Given the description of an element on the screen output the (x, y) to click on. 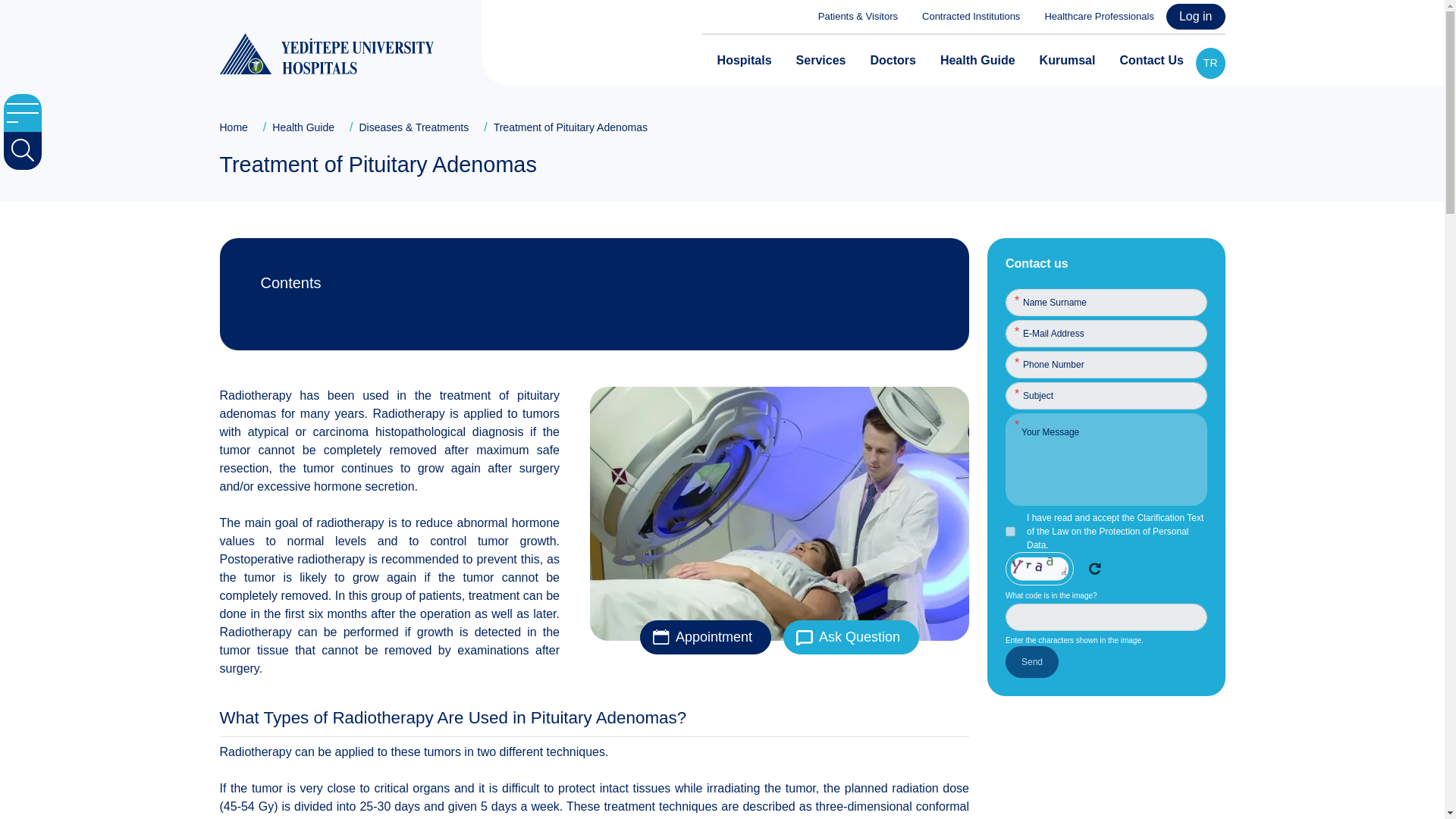
Contracted Institutions (965, 16)
Doctors (892, 60)
Contact Us (1150, 60)
Send (1032, 662)
Contact Us (1150, 60)
Kurumsal (1067, 60)
Health Guide (977, 60)
Healthcare Professionals (1093, 16)
TR (1210, 62)
Hospitals (744, 60)
